Given the description of an element on the screen output the (x, y) to click on. 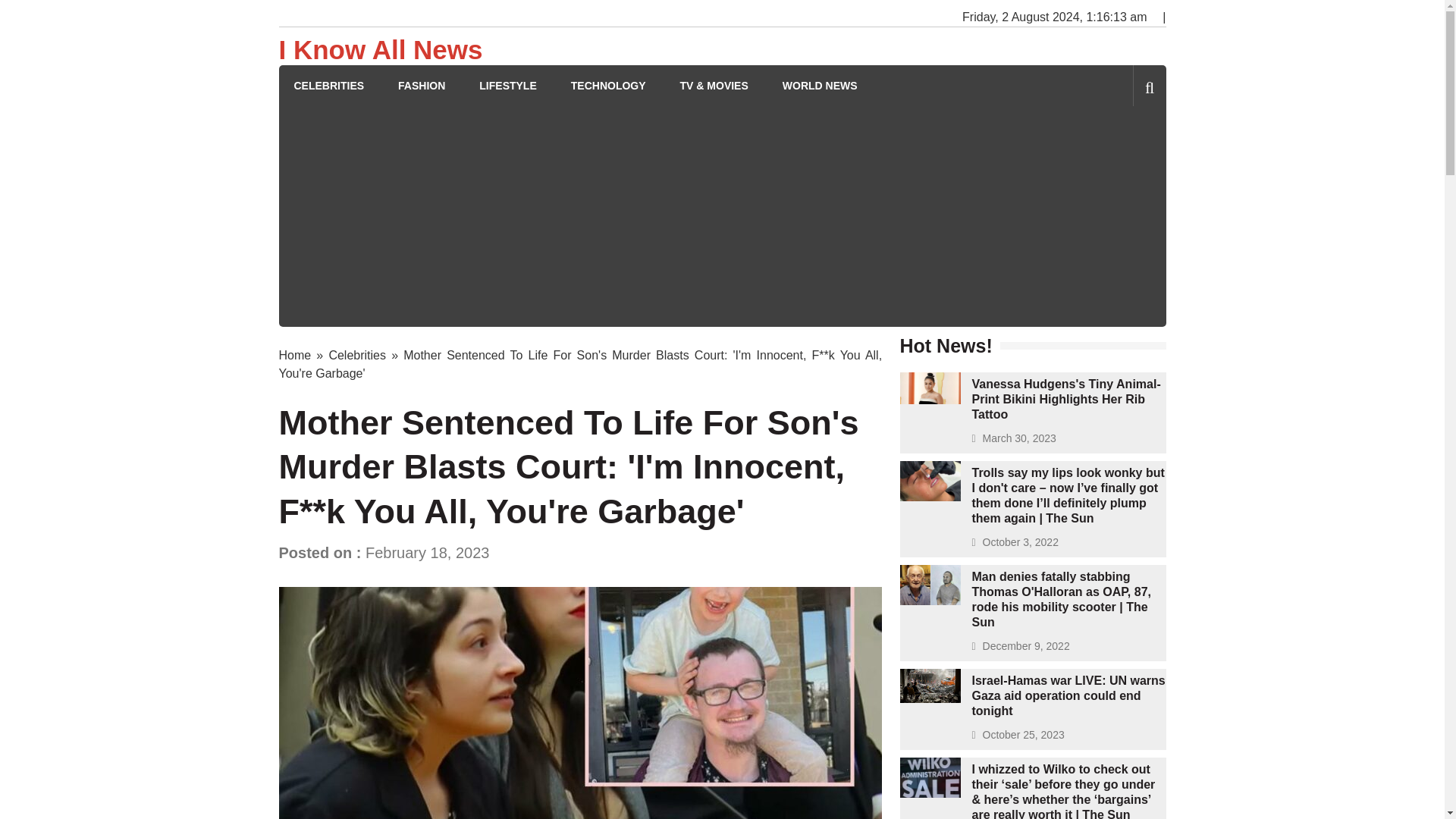
TECHNOLOGY (608, 86)
Celebrities (357, 354)
March 30, 2023 (1019, 438)
FASHION (421, 86)
I Know All News (381, 50)
October 25, 2023 (1023, 734)
LIFESTYLE (507, 86)
February 18, 2023 (427, 552)
Search (1123, 150)
October 3, 2022 (1020, 541)
WORLD NEWS (820, 86)
CELEBRITIES (329, 86)
